Given the description of an element on the screen output the (x, y) to click on. 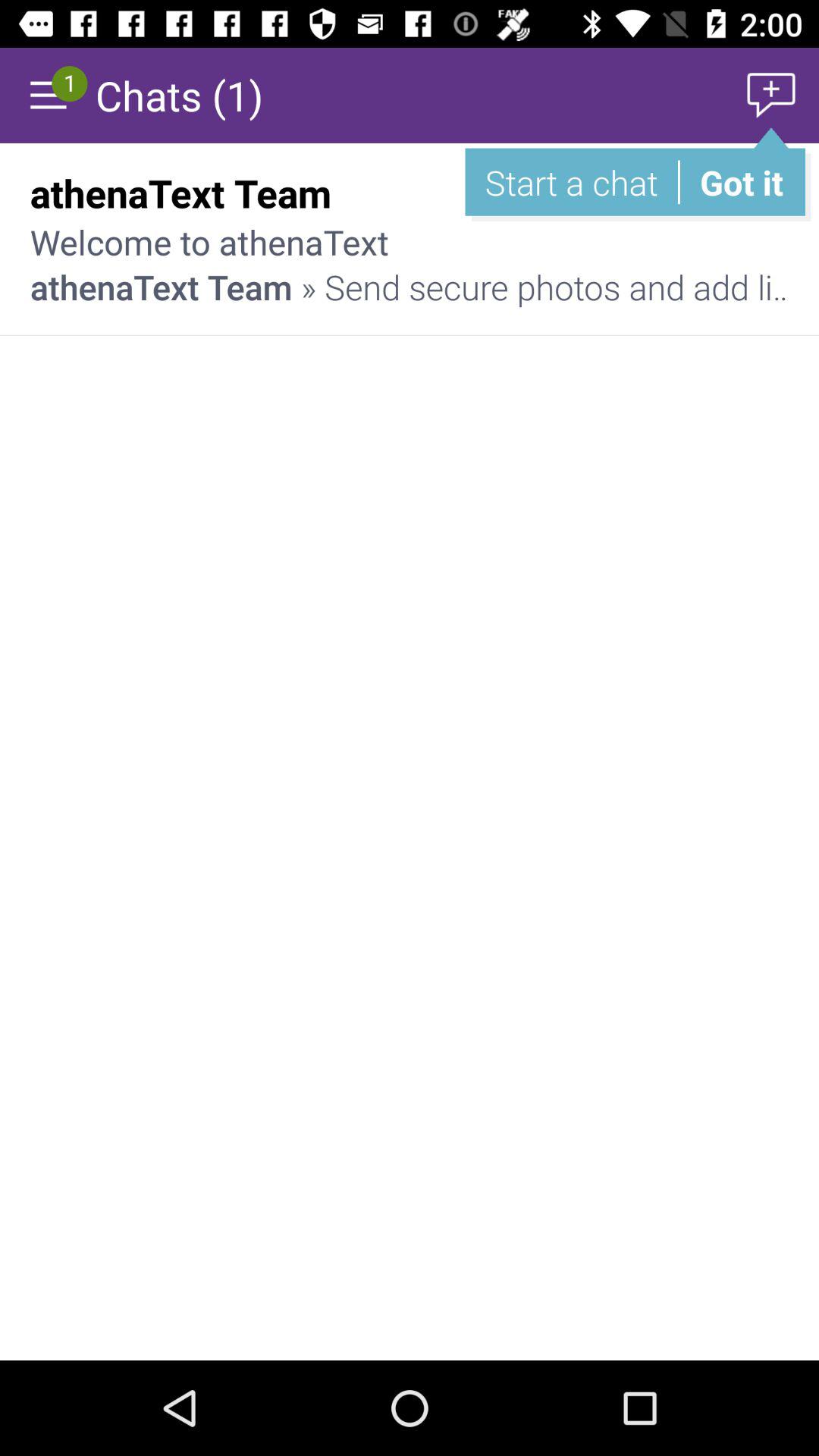
setting page (47, 95)
